Given the description of an element on the screen output the (x, y) to click on. 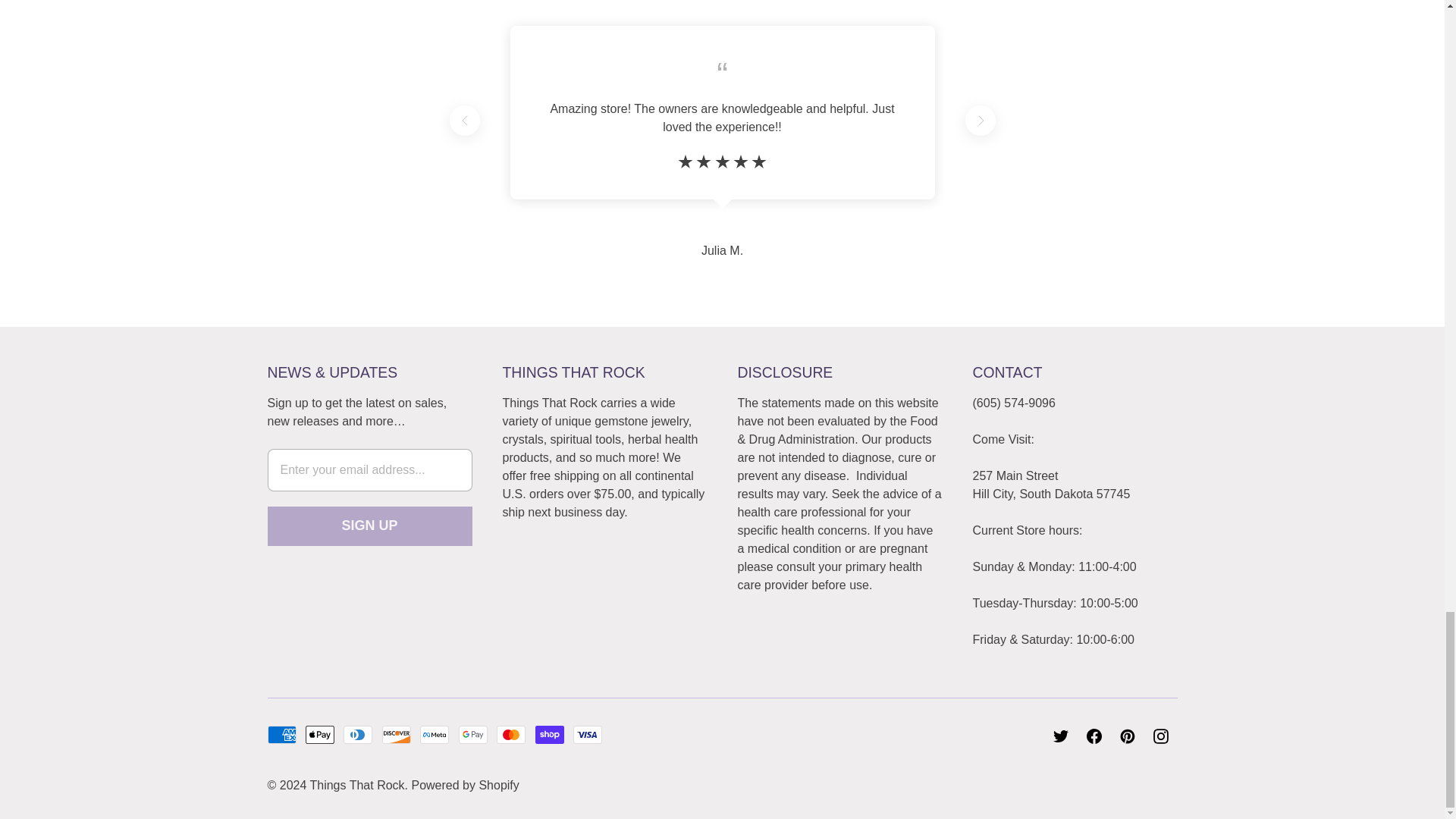
Meta Pay (434, 734)
Visa (587, 734)
Diners Club (357, 734)
Sign Up (368, 525)
American Express (280, 734)
Mastercard (510, 734)
Shop Pay (549, 734)
Apple Pay (319, 734)
Google Pay (472, 734)
Discover (395, 734)
